Given the description of an element on the screen output the (x, y) to click on. 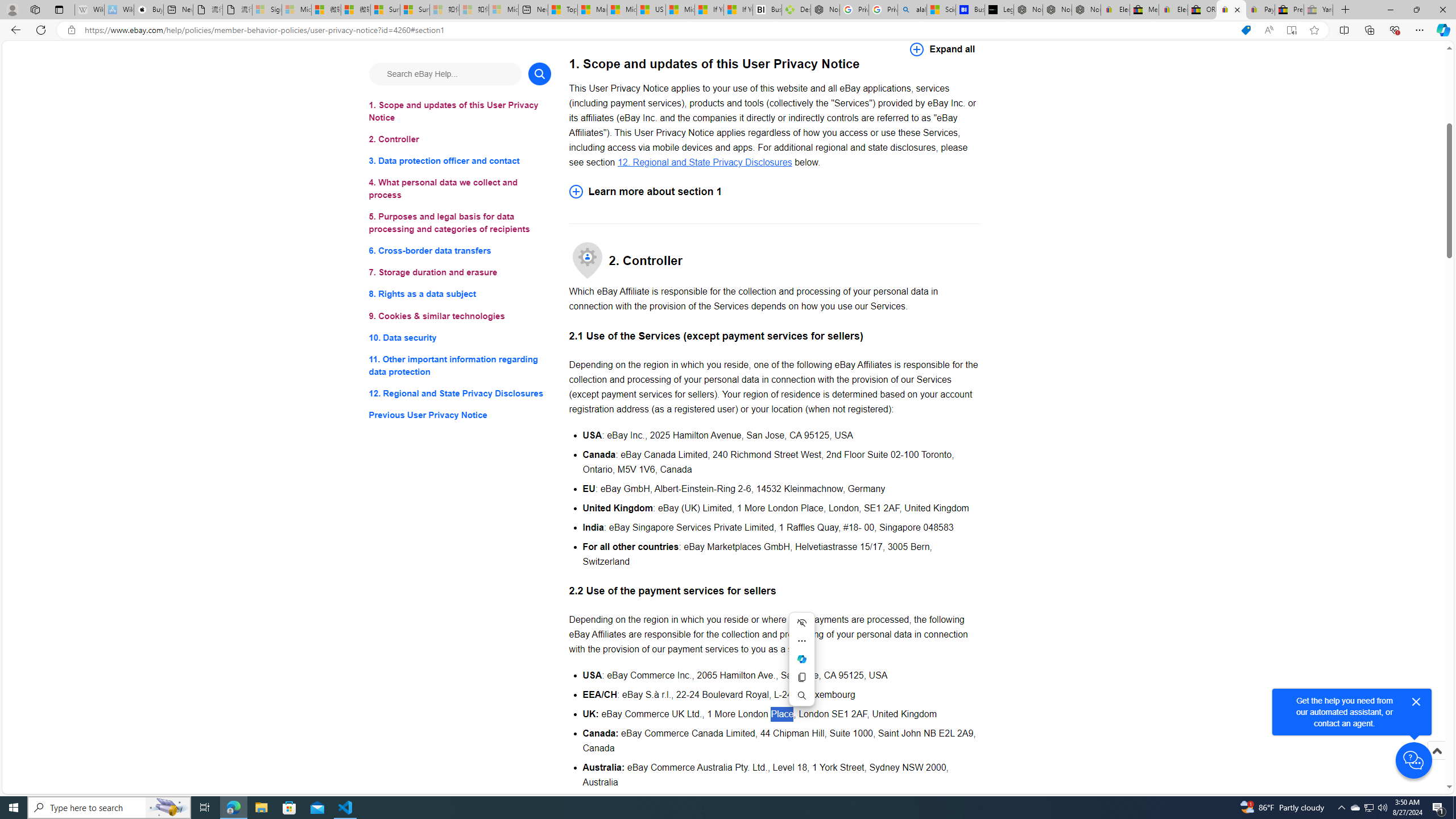
Ask Copilot (801, 659)
Microsoft account | Account Checkup - Sleeping (502, 9)
Enter Immersive Reader (F9) (1291, 29)
9. Cookies & similar technologies (459, 315)
Expand all (942, 49)
